Given the description of an element on the screen output the (x, y) to click on. 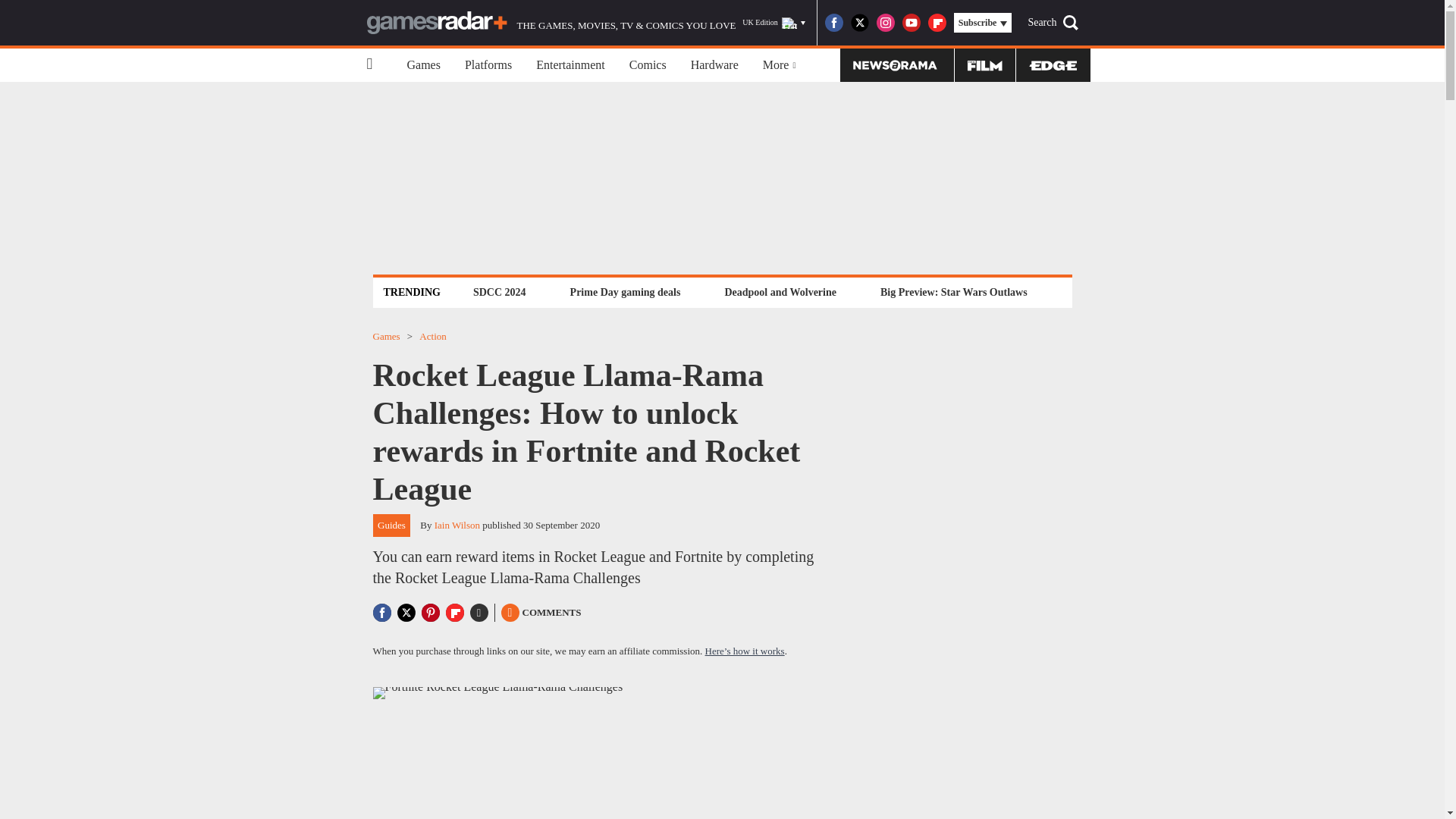
Deadpool and Wolverine (780, 292)
Comics (647, 64)
Hardware (714, 64)
Entertainment (570, 64)
SDCC 2024 (499, 292)
Prime Day gaming deals (624, 292)
Platforms (488, 64)
UK Edition (773, 22)
Big Preview: Star Wars Outlaws (953, 292)
Games (422, 64)
